Given the description of an element on the screen output the (x, y) to click on. 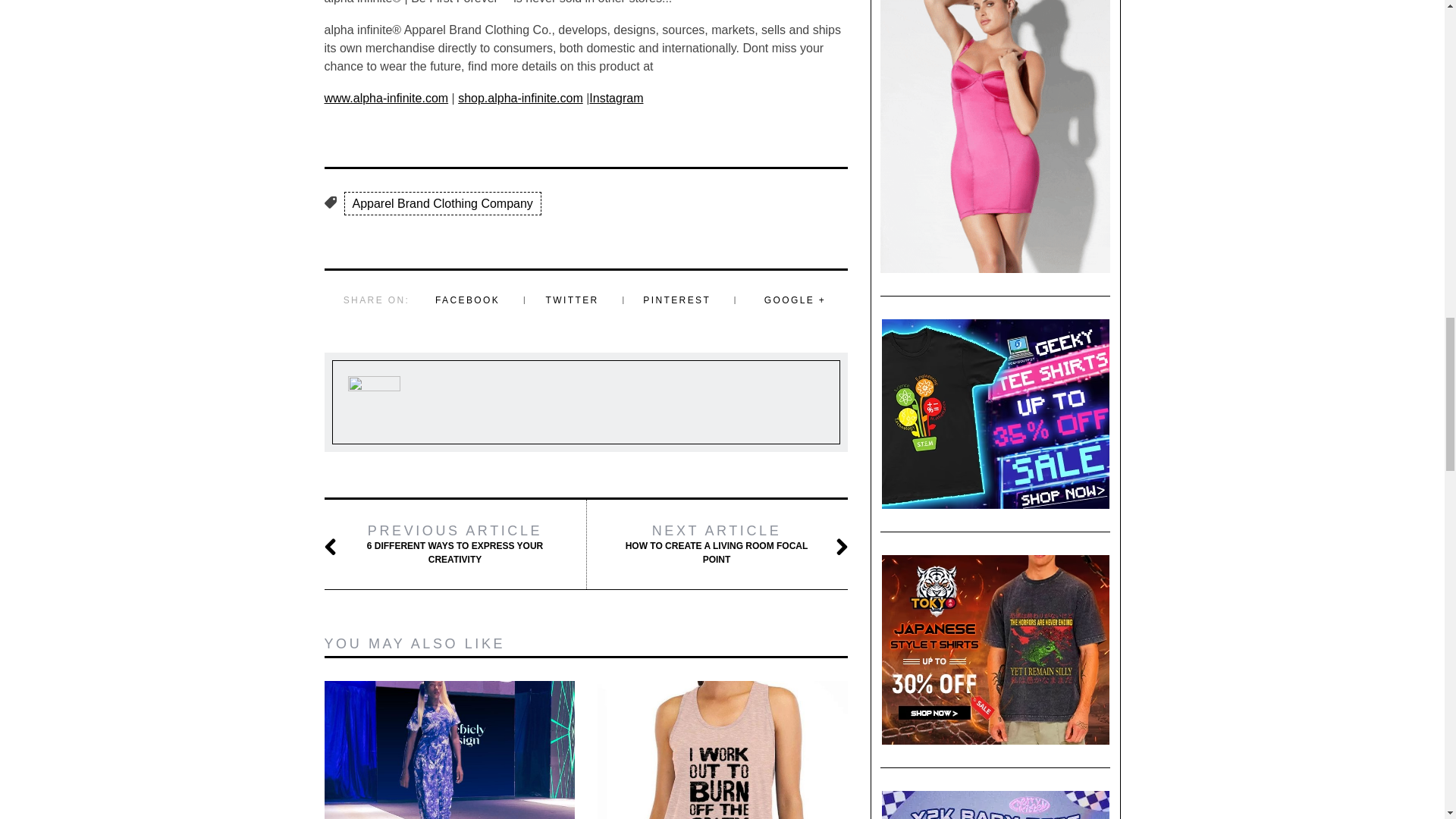
baby tees (994, 805)
Japanese t shirts (994, 649)
geek t shirt (994, 413)
